Given the description of an element on the screen output the (x, y) to click on. 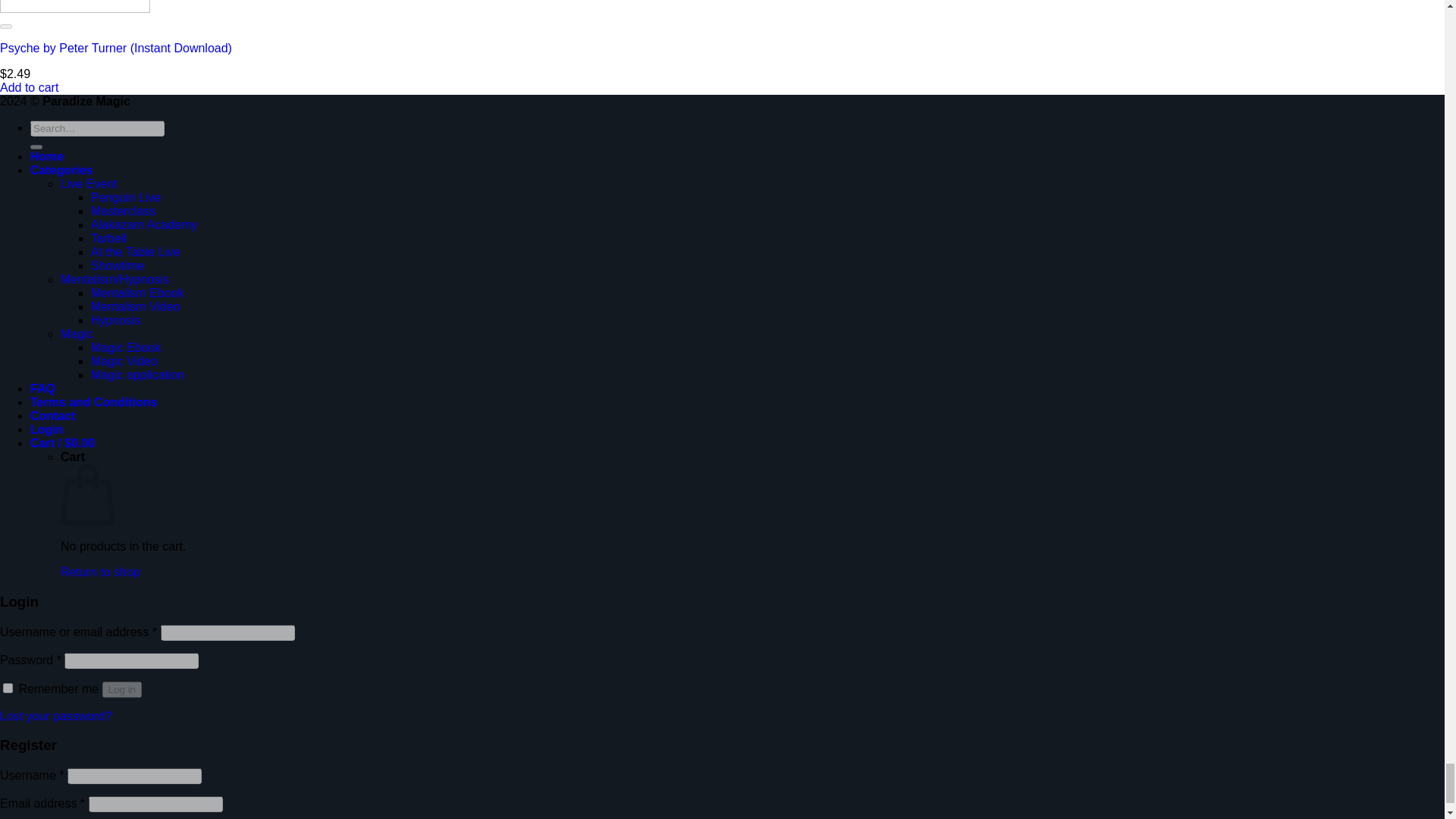
forever (7, 687)
Login (47, 429)
Cart (62, 442)
